Given the description of an element on the screen output the (x, y) to click on. 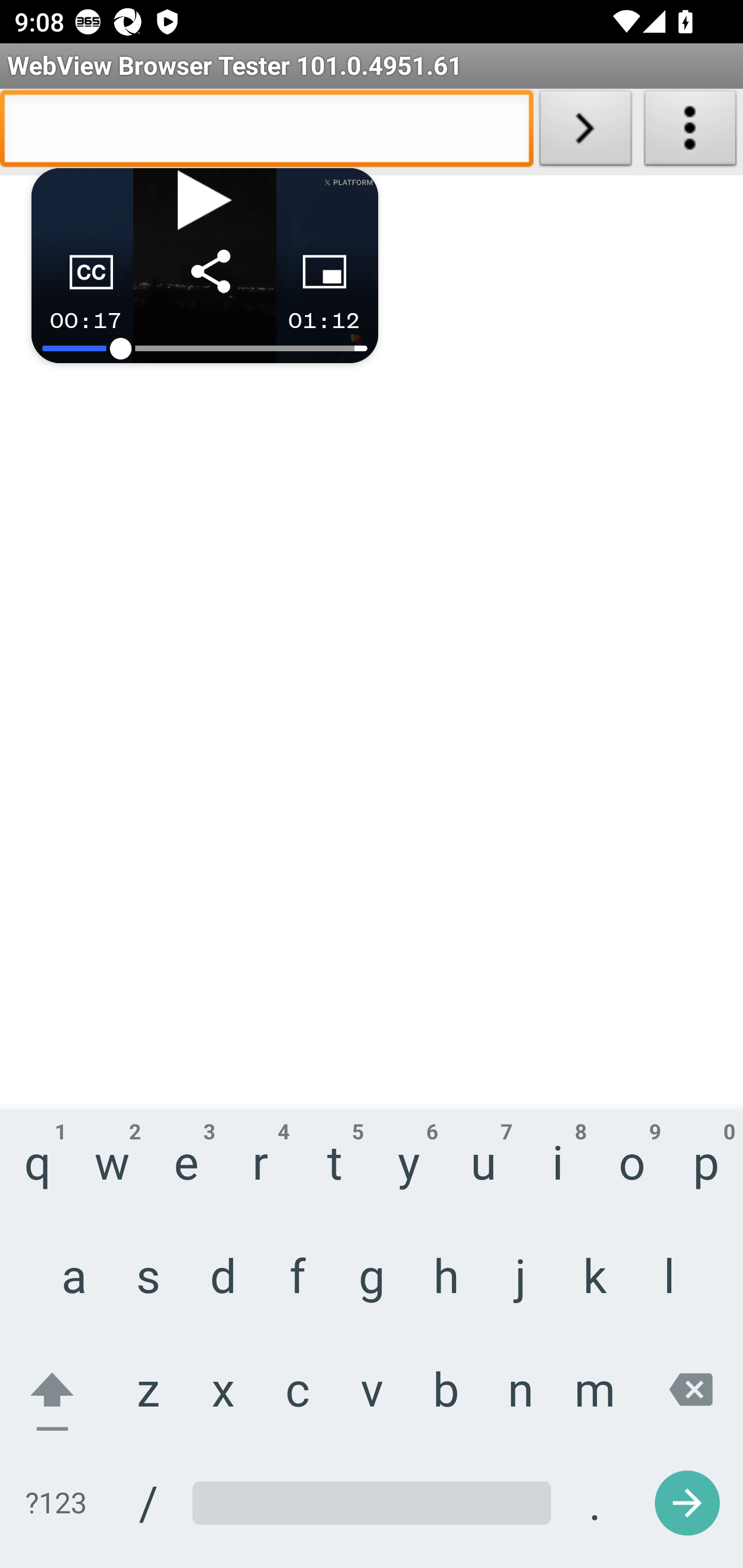
Load URL (585, 132)
About WebView (690, 132)
